Given the description of an element on the screen output the (x, y) to click on. 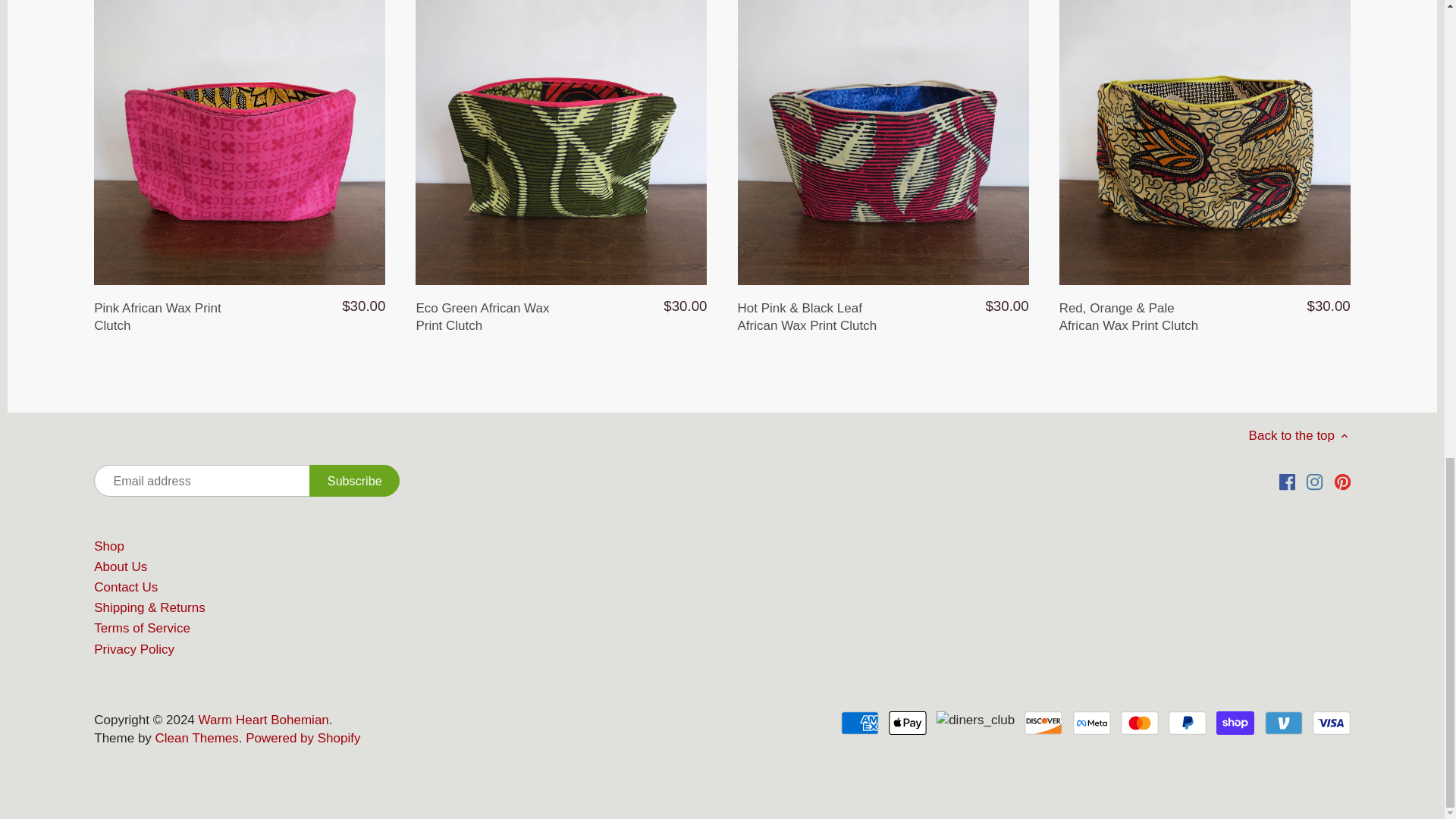
Pink African Wax Print Clutch (167, 316)
Subscribe (353, 480)
Facebook (1287, 481)
Instagram (1314, 481)
Eco Green African Wax Print Clutch (487, 316)
Pinterest (1343, 481)
